Given the description of an element on the screen output the (x, y) to click on. 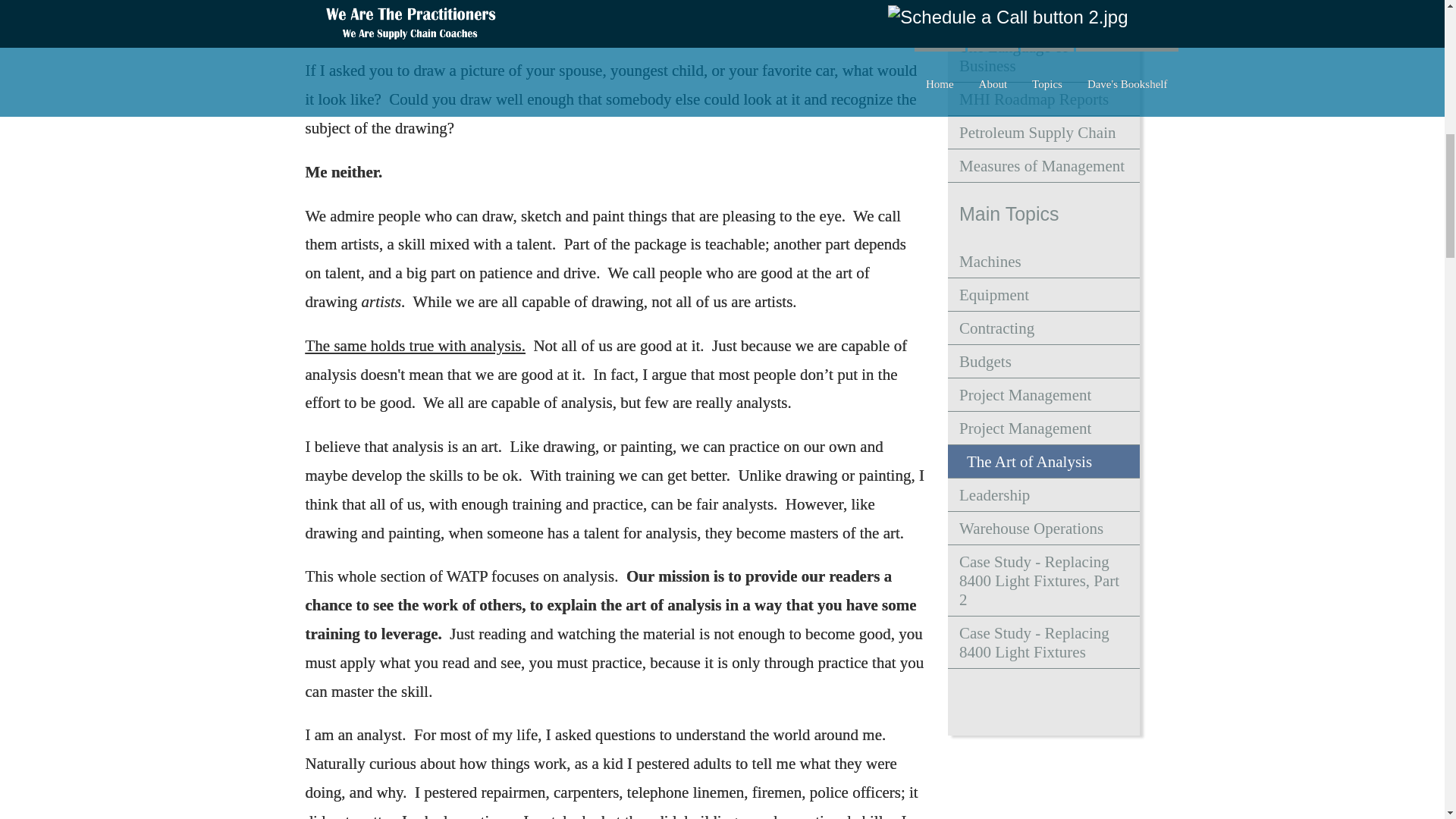
Facebook (968, 700)
GooglePlus (987, 700)
Pinterest (1044, 700)
Linkedin (1025, 700)
Instagram (1006, 700)
Big Data (1043, 14)
Twitter (1063, 700)
